Given the description of an element on the screen output the (x, y) to click on. 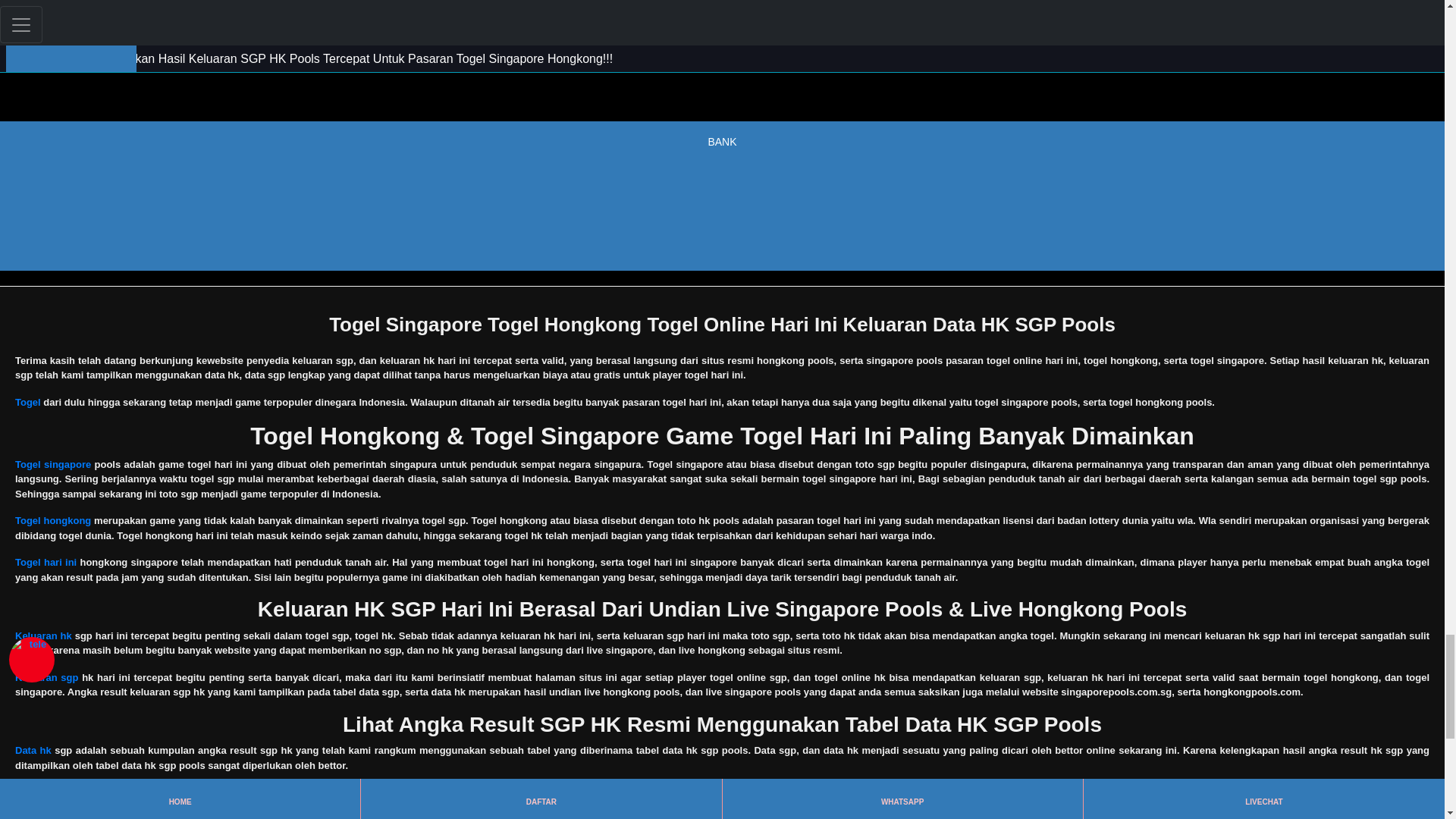
Data sgp (35, 791)
Togel hongkong (52, 520)
Data hk (32, 749)
Togel (27, 401)
Togel singapore (52, 464)
Togel hari ini (45, 562)
Keluaran hk (42, 635)
Keluaran sgp (46, 677)
